Given the description of an element on the screen output the (x, y) to click on. 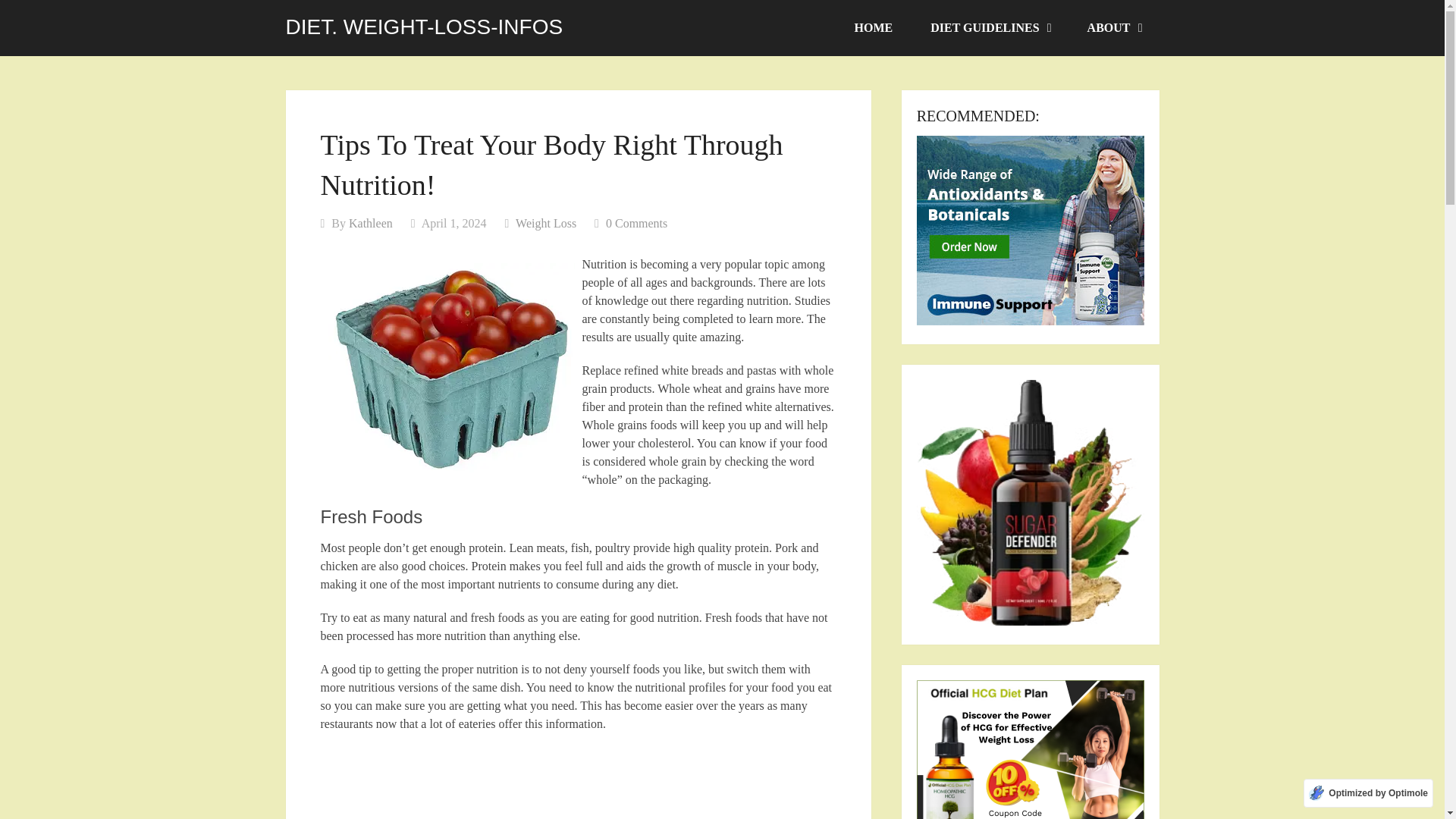
Kathleen (371, 223)
HOME (873, 28)
Posts by Kathleen (371, 223)
DIET. WEIGHT-LOSS-INFOS (423, 26)
ABOUT (1113, 28)
0 Comments (635, 223)
DIET GUIDELINES (989, 28)
Tips To Treat Your Body Right Through Nutrition! (450, 368)
Advertisement (577, 783)
Weight Loss (545, 223)
